Given the description of an element on the screen output the (x, y) to click on. 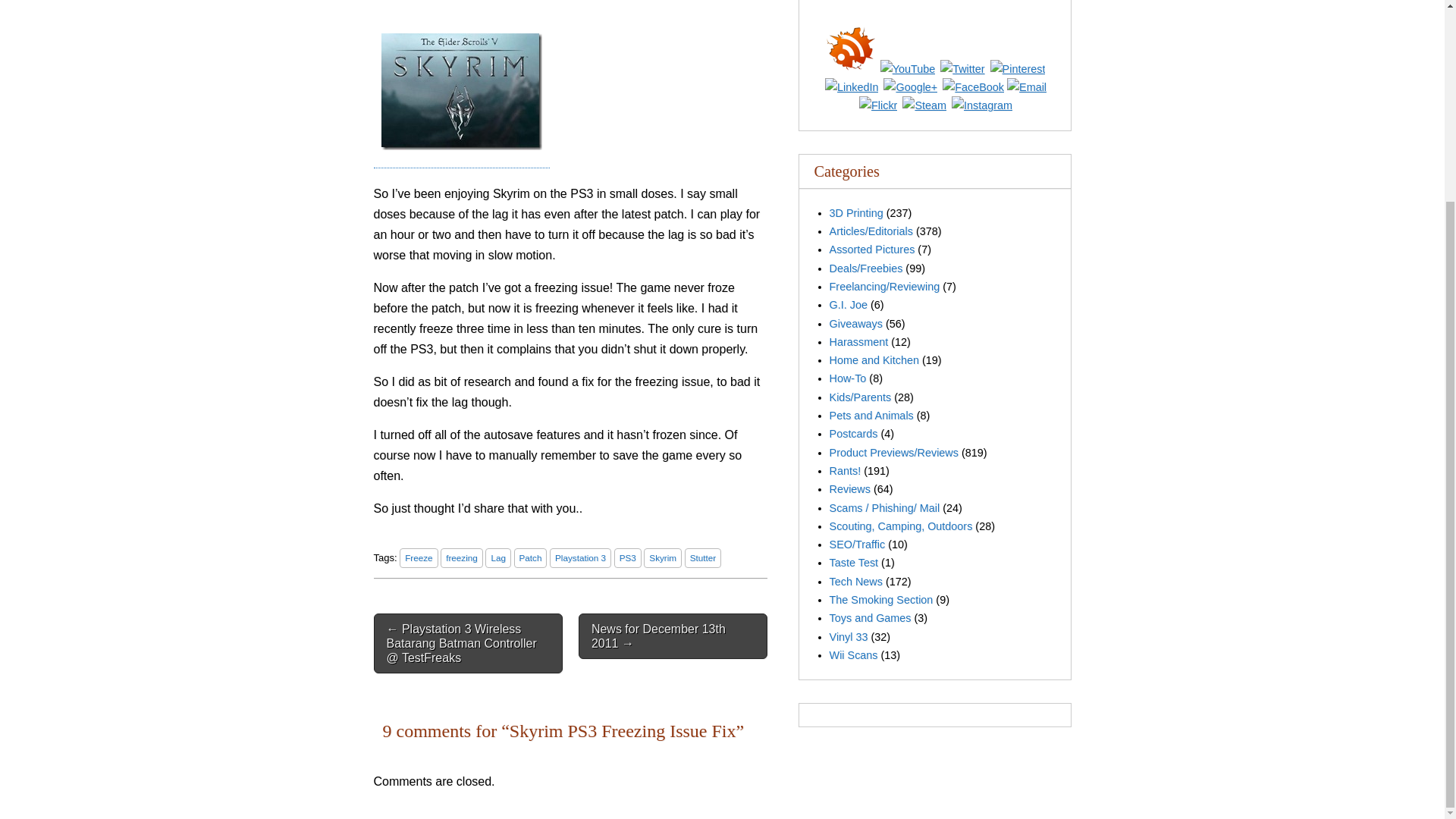
Harassment (858, 341)
Follow me on Twitter (962, 68)
Patch (530, 557)
My LinkedIn Profile (851, 86)
Giveaways (855, 323)
Skyrim (662, 557)
freezing (462, 557)
Freeze (418, 557)
My Photos on Flickr (877, 105)
My YouTube Channel (908, 68)
Stutter (702, 557)
Find me on Steam (924, 105)
Me on Instagram (981, 105)
PS3 (628, 557)
Lag (497, 557)
